Given the description of an element on the screen output the (x, y) to click on. 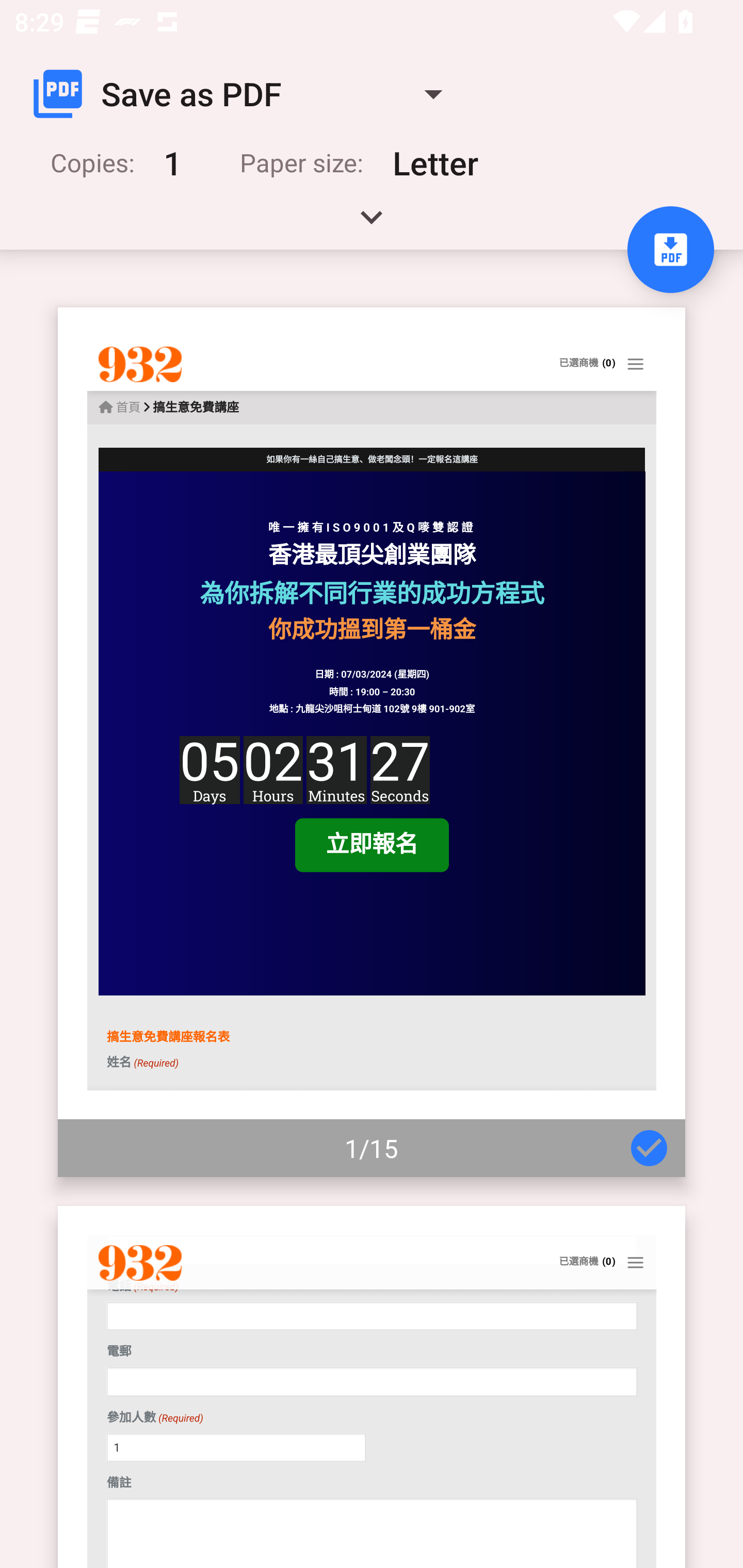
Save as PDF (245, 93)
Expand handle (371, 224)
Save to PDF (670, 249)
Page 1 of 15 1/15 (371, 742)
Page 2 of 15 (371, 1386)
